Given the description of an element on the screen output the (x, y) to click on. 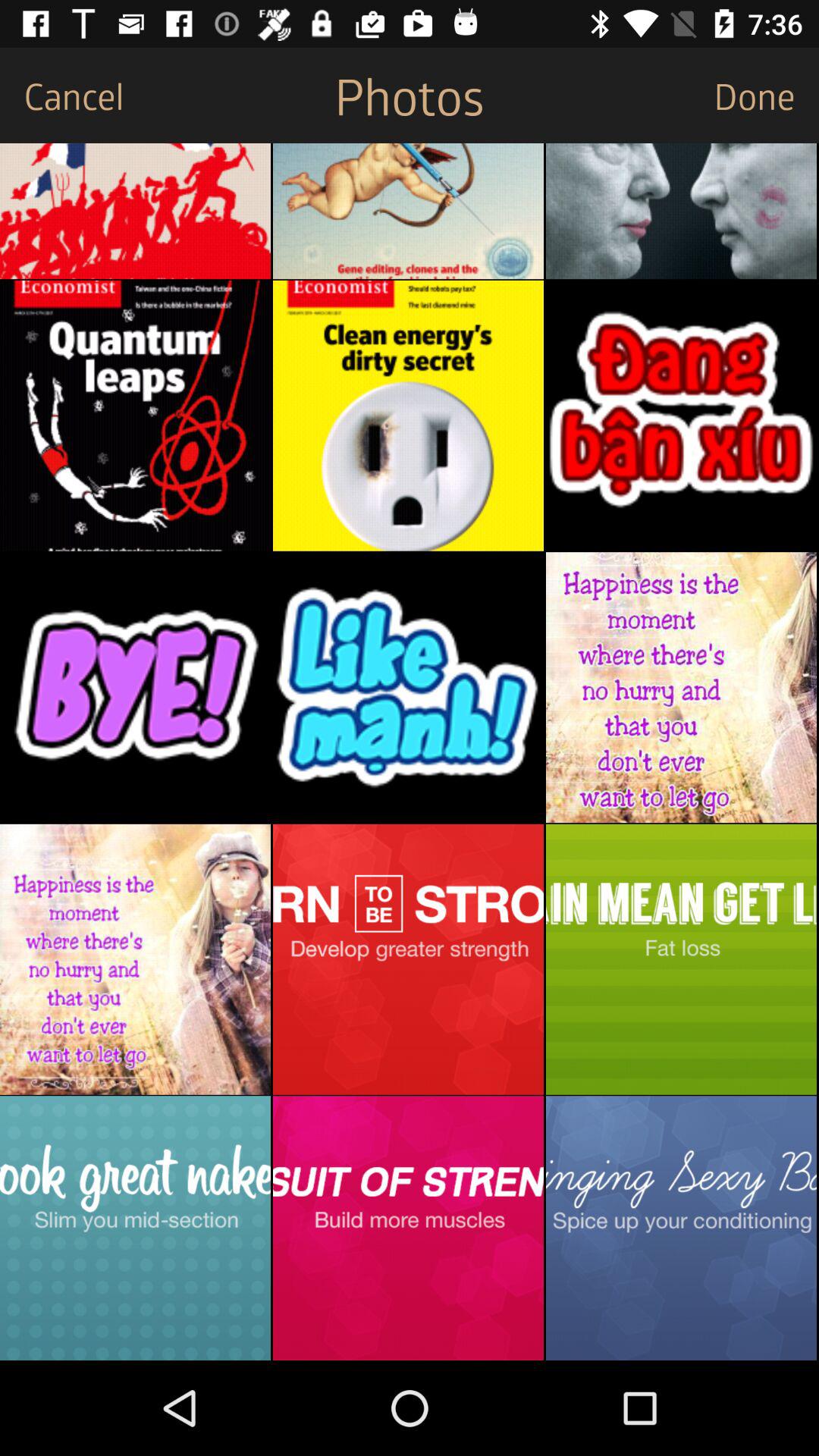
click to view photo (681, 211)
